Given the description of an element on the screen output the (x, y) to click on. 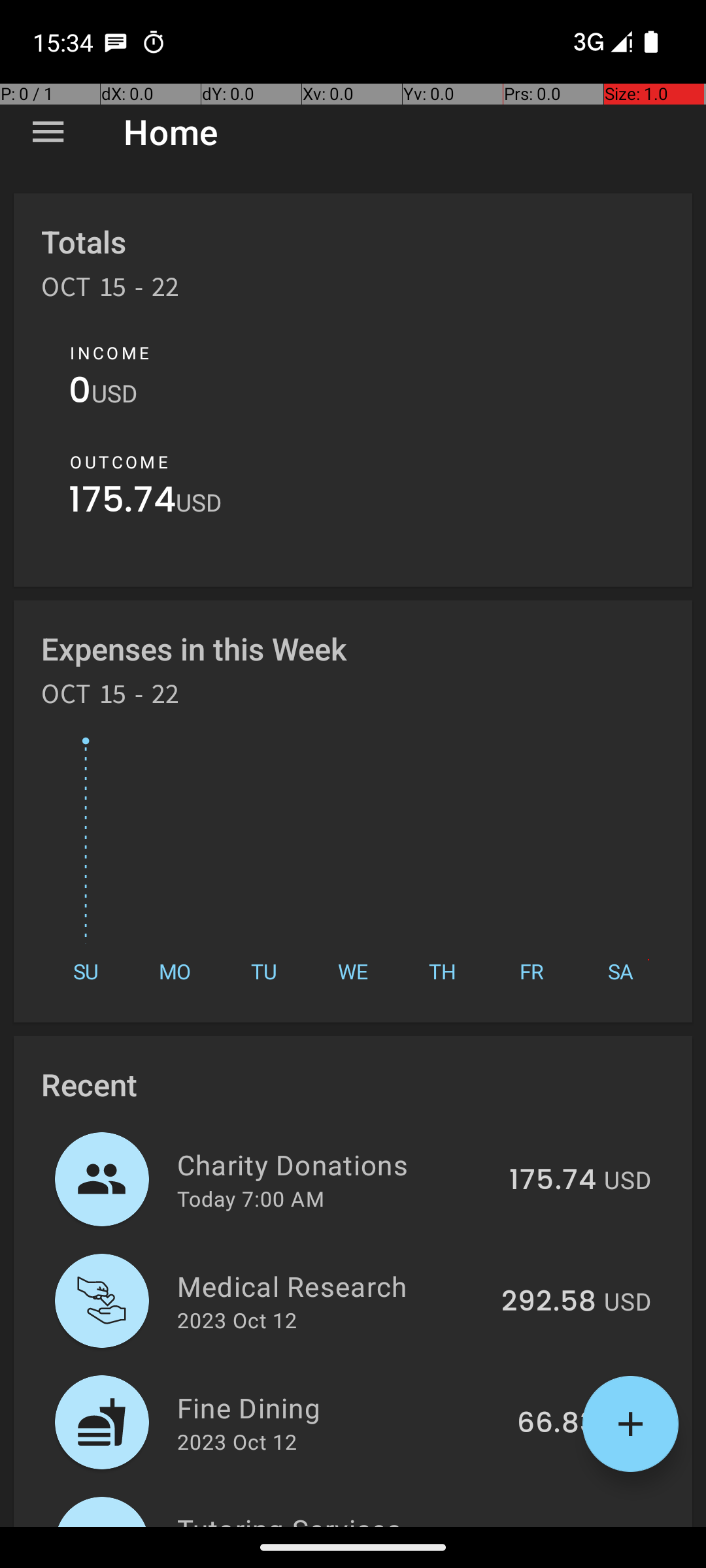
175.74 Element type: android.widget.TextView (121, 502)
Today 7:00 AM Element type: android.widget.TextView (250, 1198)
Medical Research Element type: android.widget.TextView (331, 1285)
292.58 Element type: android.widget.TextView (548, 1301)
66.83 Element type: android.widget.TextView (556, 1423)
Tutoring Services Element type: android.widget.TextView (344, 1518)
67.71 Element type: android.widget.TextView (561, 1524)
